Given the description of an element on the screen output the (x, y) to click on. 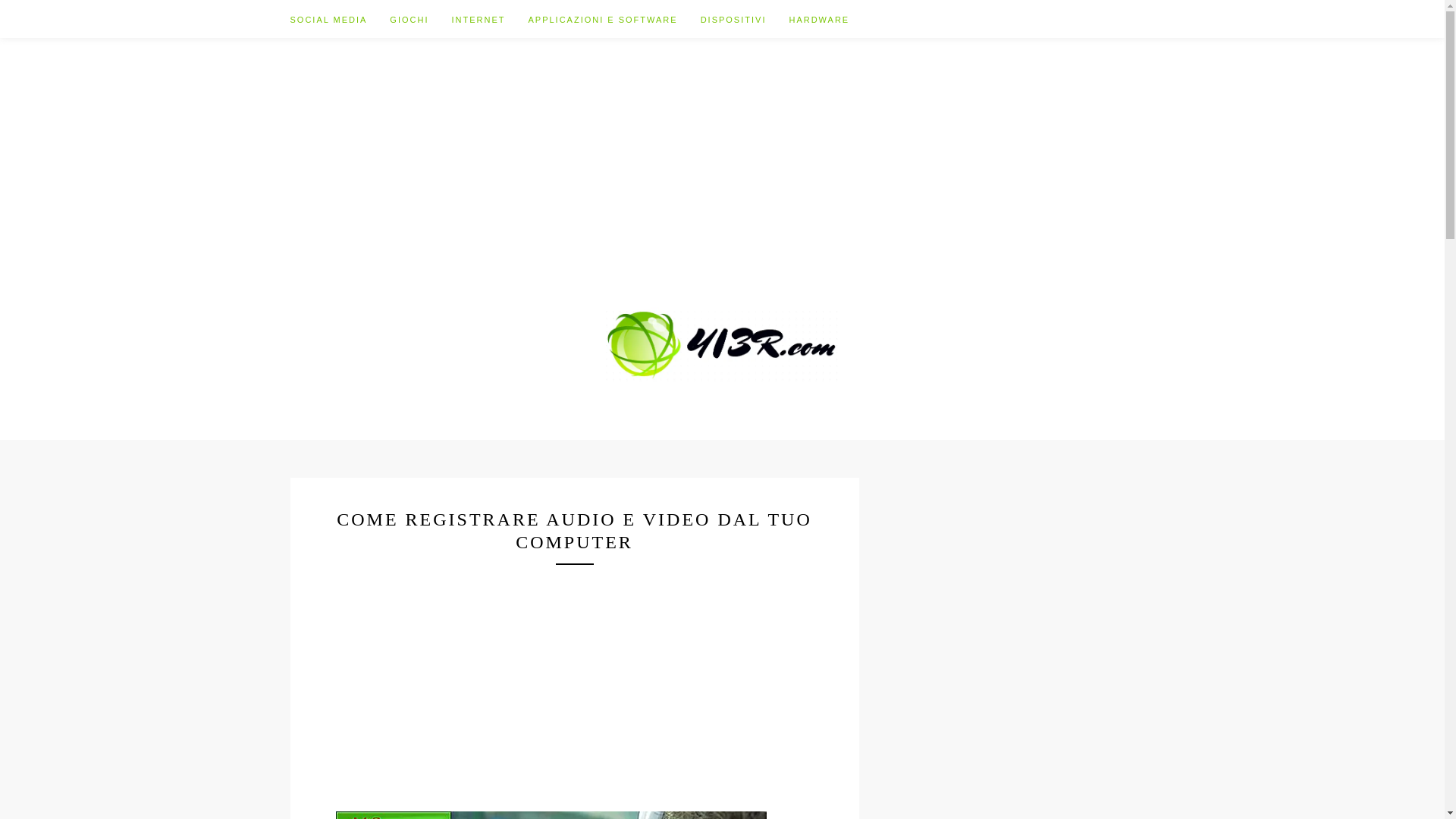
HARDWARE Element type: text (818, 18)
GIOCHI Element type: text (420, 18)
Advertisement Element type: hover (722, 143)
INTERNET Element type: text (489, 18)
Advertisement Element type: hover (573, 670)
DISPOSITIVI Element type: text (744, 18)
SOCIAL MEDIA Element type: text (339, 18)
APPLICAZIONI E SOFTWARE Element type: text (613, 18)
